Given the description of an element on the screen output the (x, y) to click on. 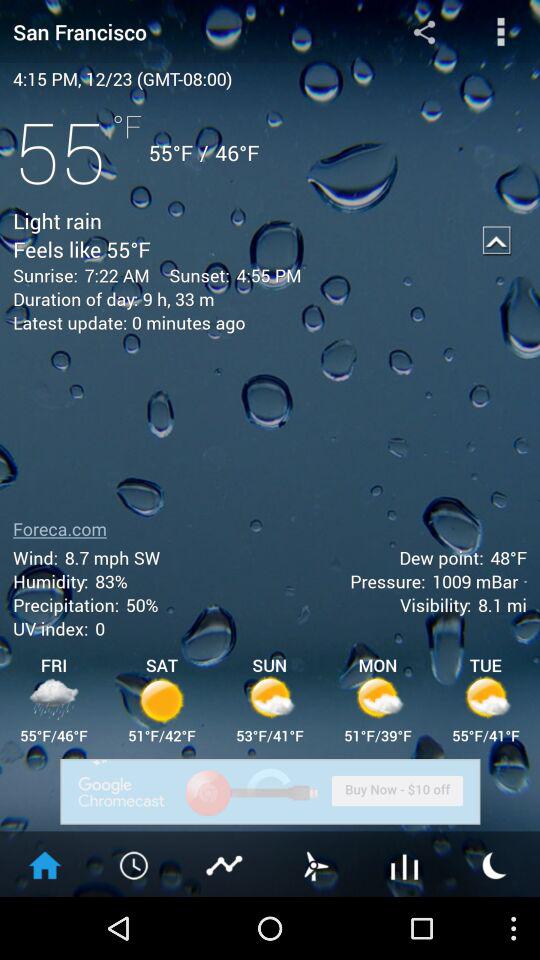
stats (225, 864)
